Given the description of an element on the screen output the (x, y) to click on. 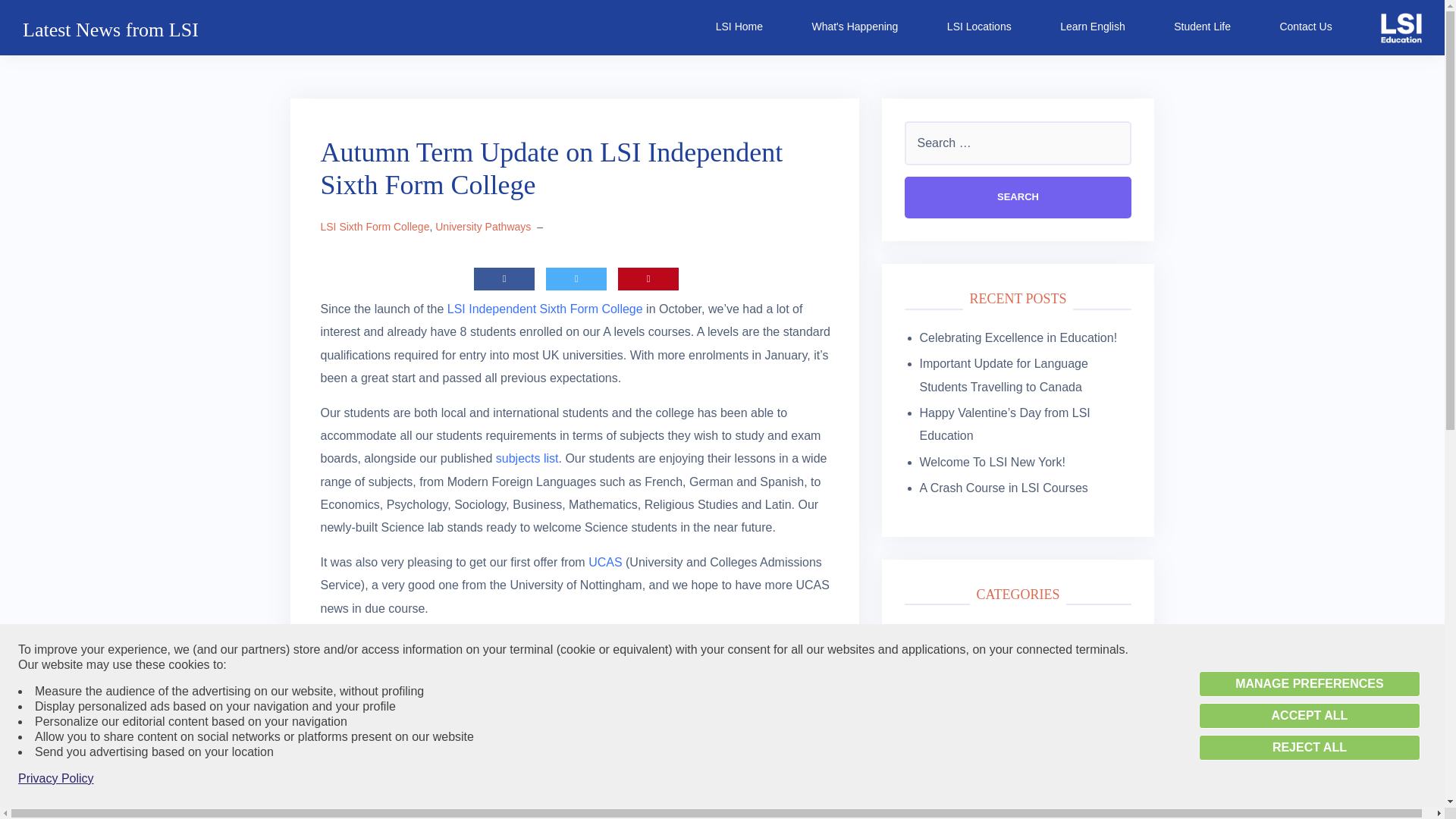
subjects list (527, 458)
Achievements (956, 632)
Learn English (1092, 26)
Celebrating Excellence in Education! (1017, 337)
Privacy Policy (55, 778)
Student Life (1201, 26)
UCAS - University and Colleges Admissions Service (604, 562)
Learn English (1092, 26)
UCAS (604, 562)
Welcome To LSI New York! (991, 461)
LSI Locations (979, 26)
Contact Us (1305, 26)
LSI LONDON HAMPSTEAD (613, 761)
Latest News from LSI (110, 29)
LSI INDEPENDENT SIXTH FORM COLLEGE (441, 761)
